Given the description of an element on the screen output the (x, y) to click on. 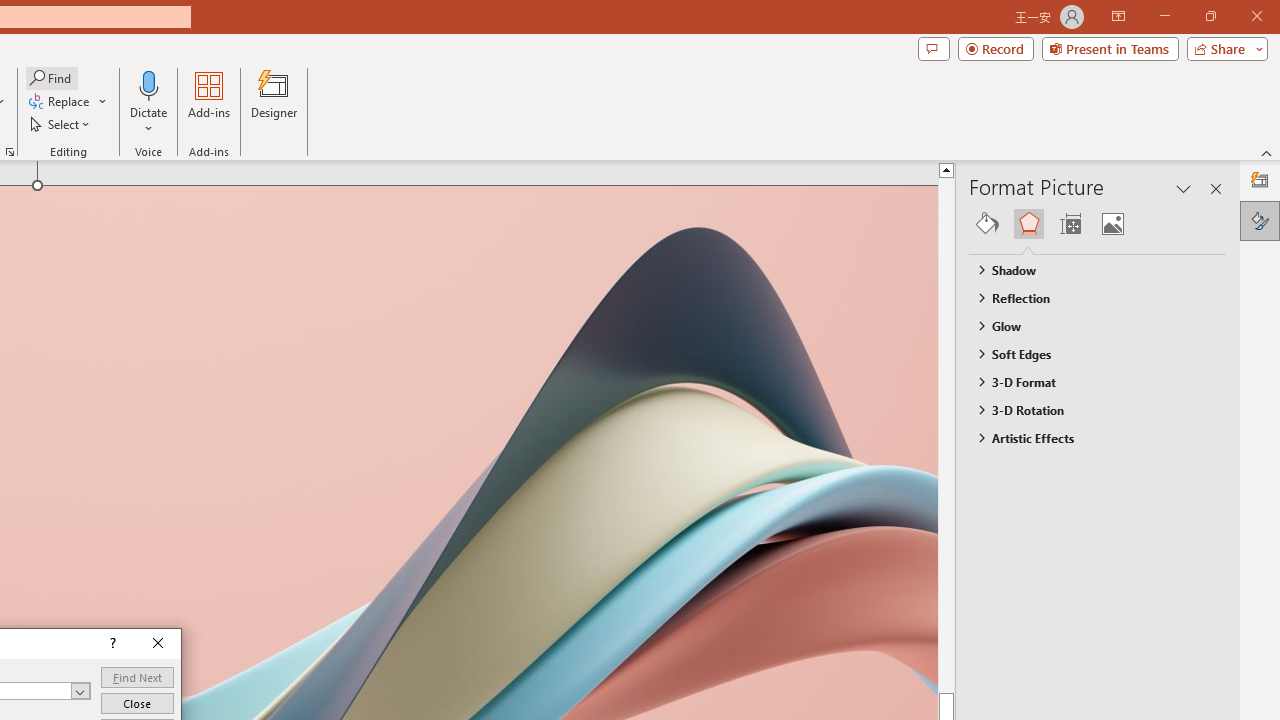
Picture (1112, 223)
Soft Edges (1088, 353)
Context help (111, 643)
Shadow (1088, 269)
Find Next (137, 677)
